Given the description of an element on the screen output the (x, y) to click on. 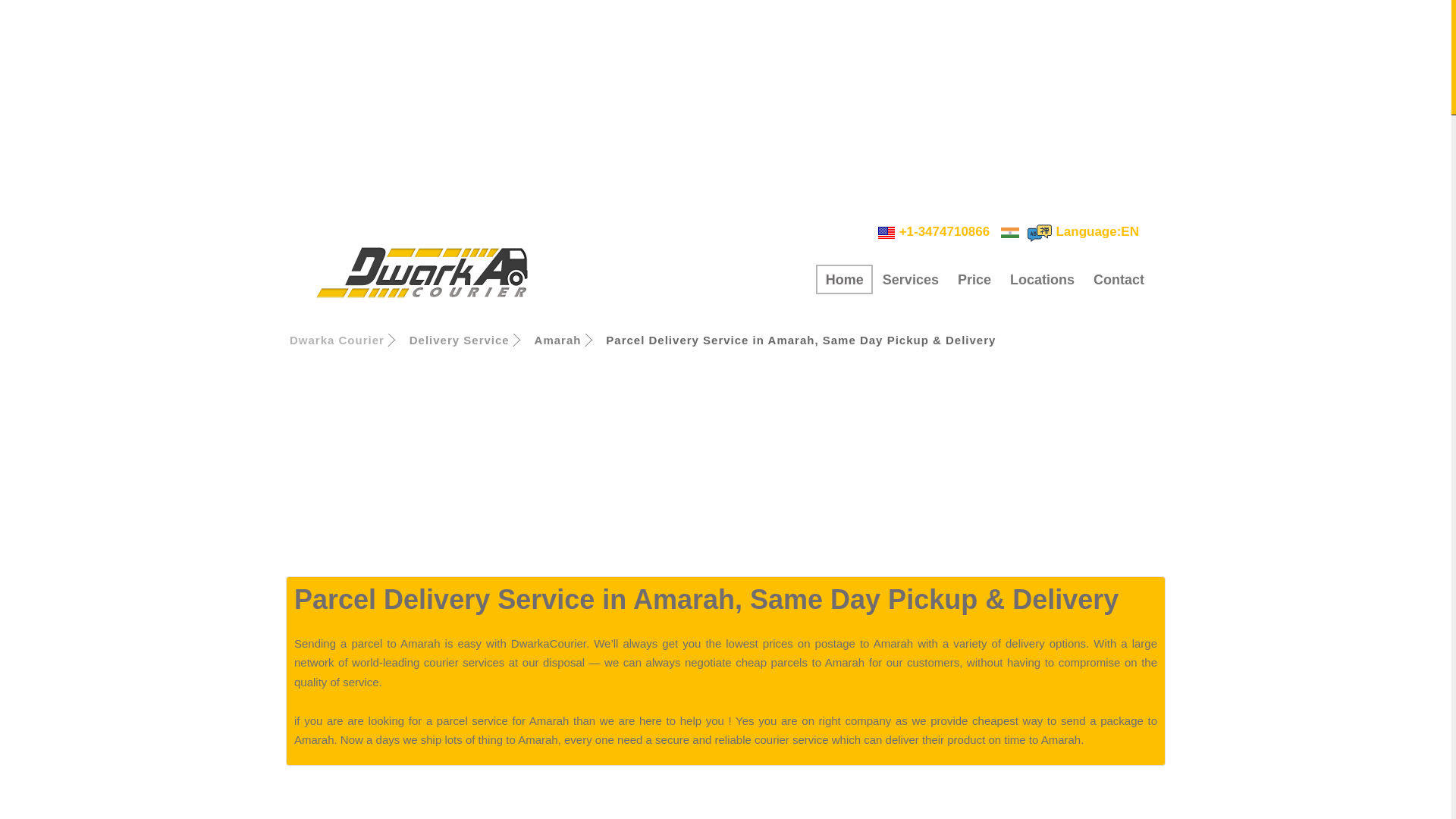
Amarah (557, 339)
Language:EN (1082, 231)
Price (973, 279)
Home (843, 279)
Contact (1118, 279)
India (1010, 232)
Delivery Service (459, 339)
Home (843, 279)
USA (886, 232)
Locations (1041, 279)
